Given the description of an element on the screen output the (x, y) to click on. 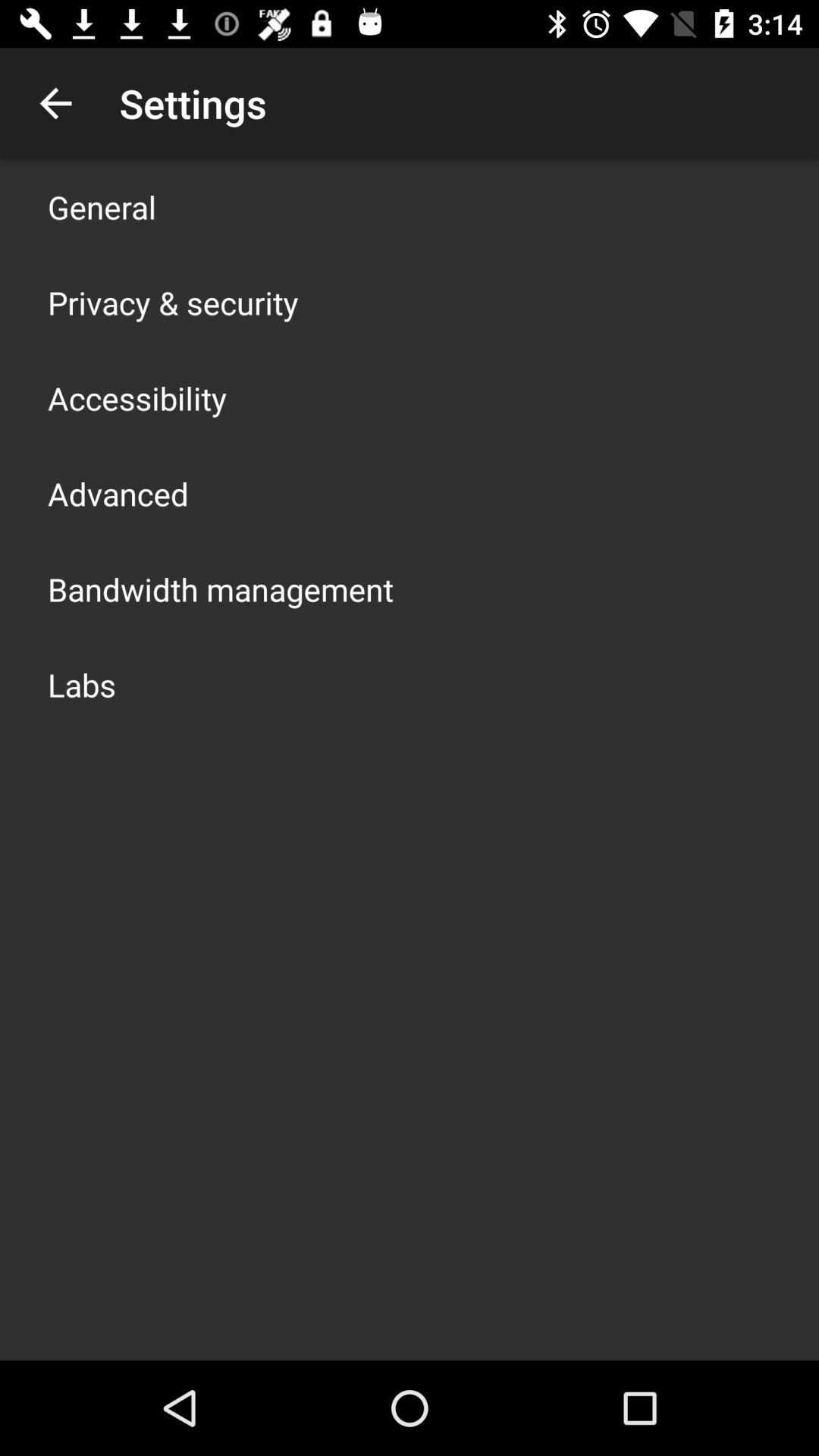
open icon below the advanced (220, 588)
